Given the description of an element on the screen output the (x, y) to click on. 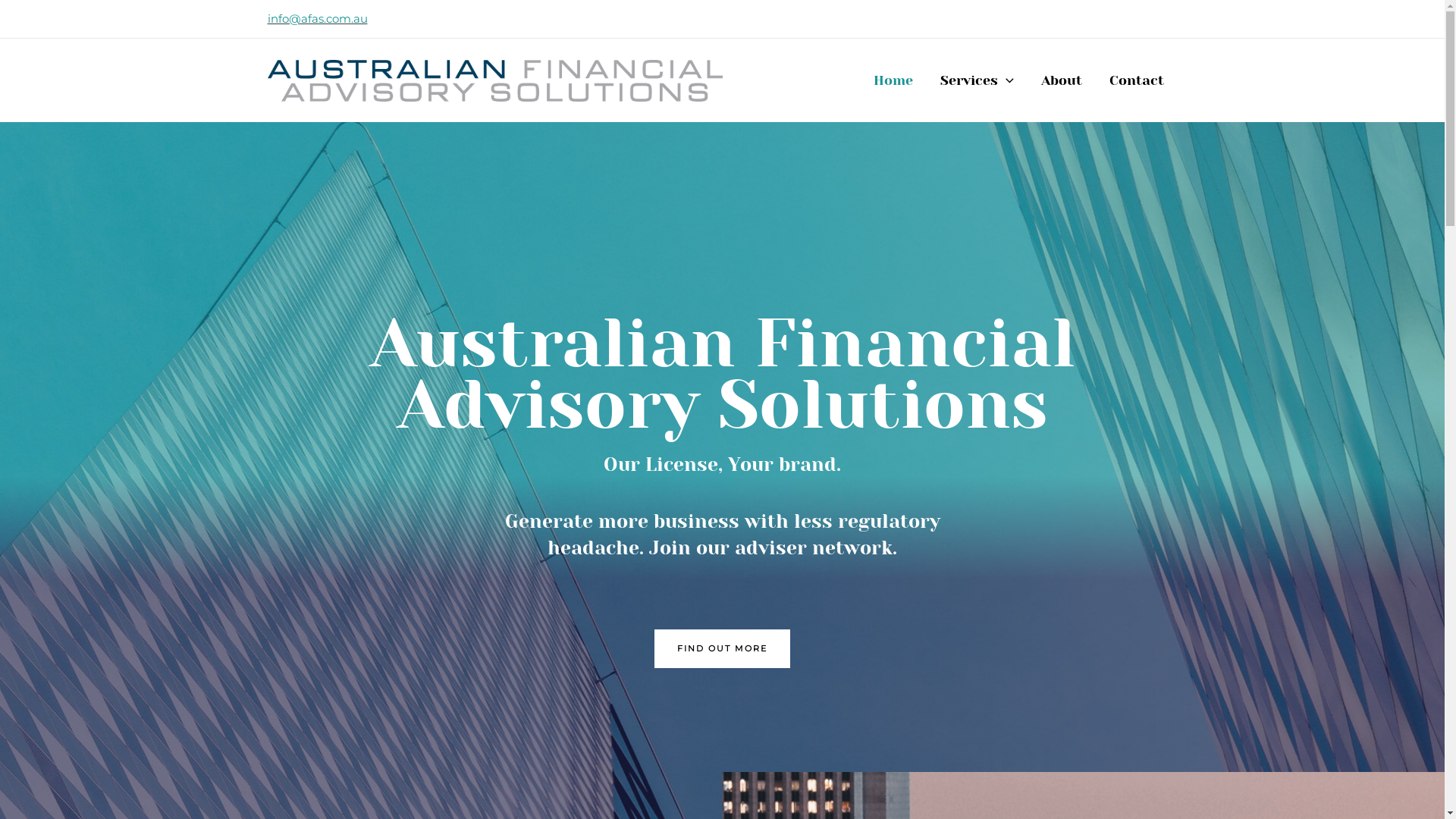
FIND OUT MORE Element type: text (722, 648)
Home Element type: text (892, 80)
Contact Element type: text (1135, 80)
info@afas.com.au Element type: text (316, 18)
About Element type: text (1060, 80)
Services Element type: text (976, 80)
